Given the description of an element on the screen output the (x, y) to click on. 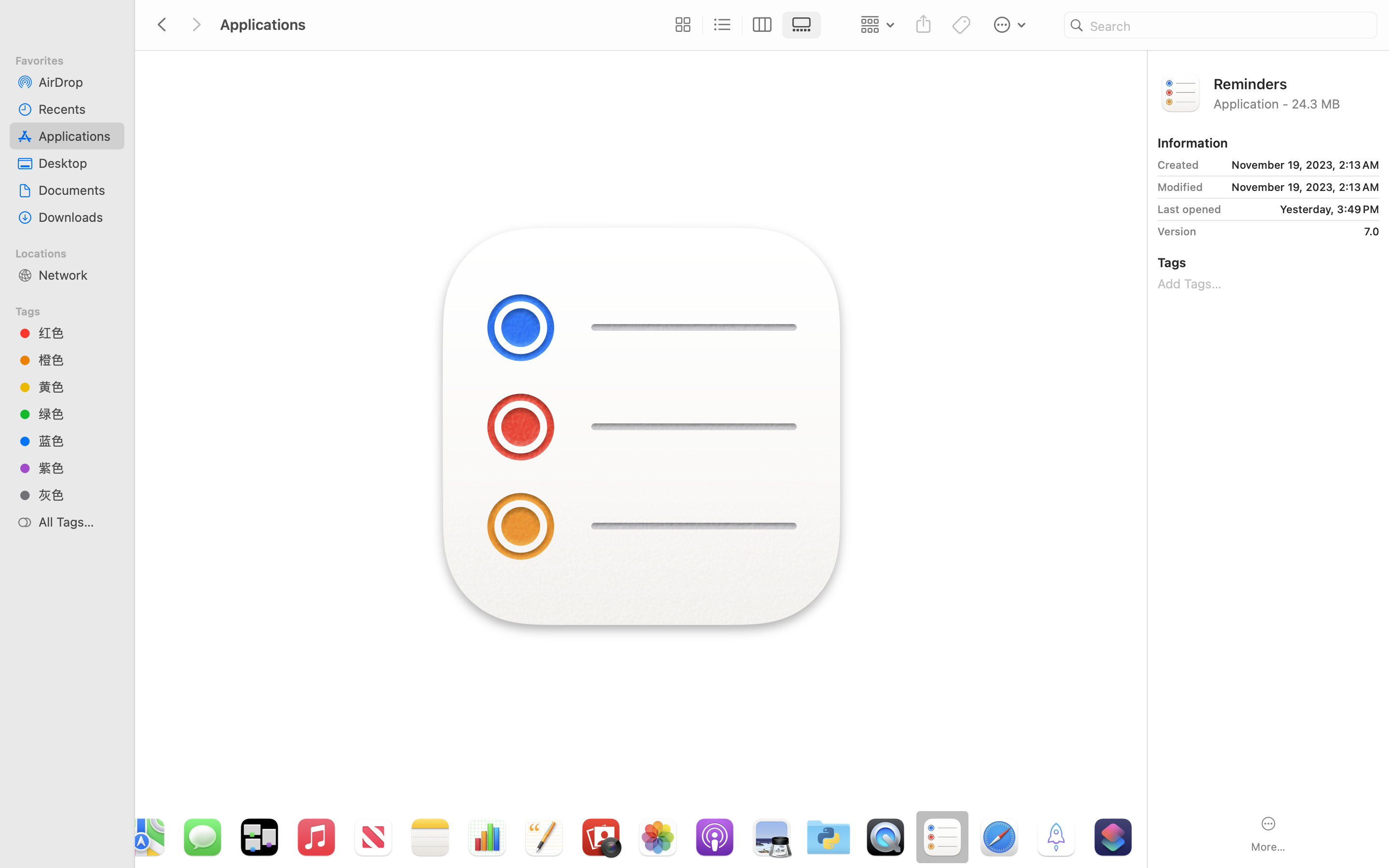
1 Element type: AXRadioButton (804, 24)
0 Element type: AXRadioButton (680, 24)
Created Element type: AXStaticText (1177, 164)
Locations Element type: AXStaticText (72, 252)
Reminders Element type: AXStaticText (1296, 82)
